Given the description of an element on the screen output the (x, y) to click on. 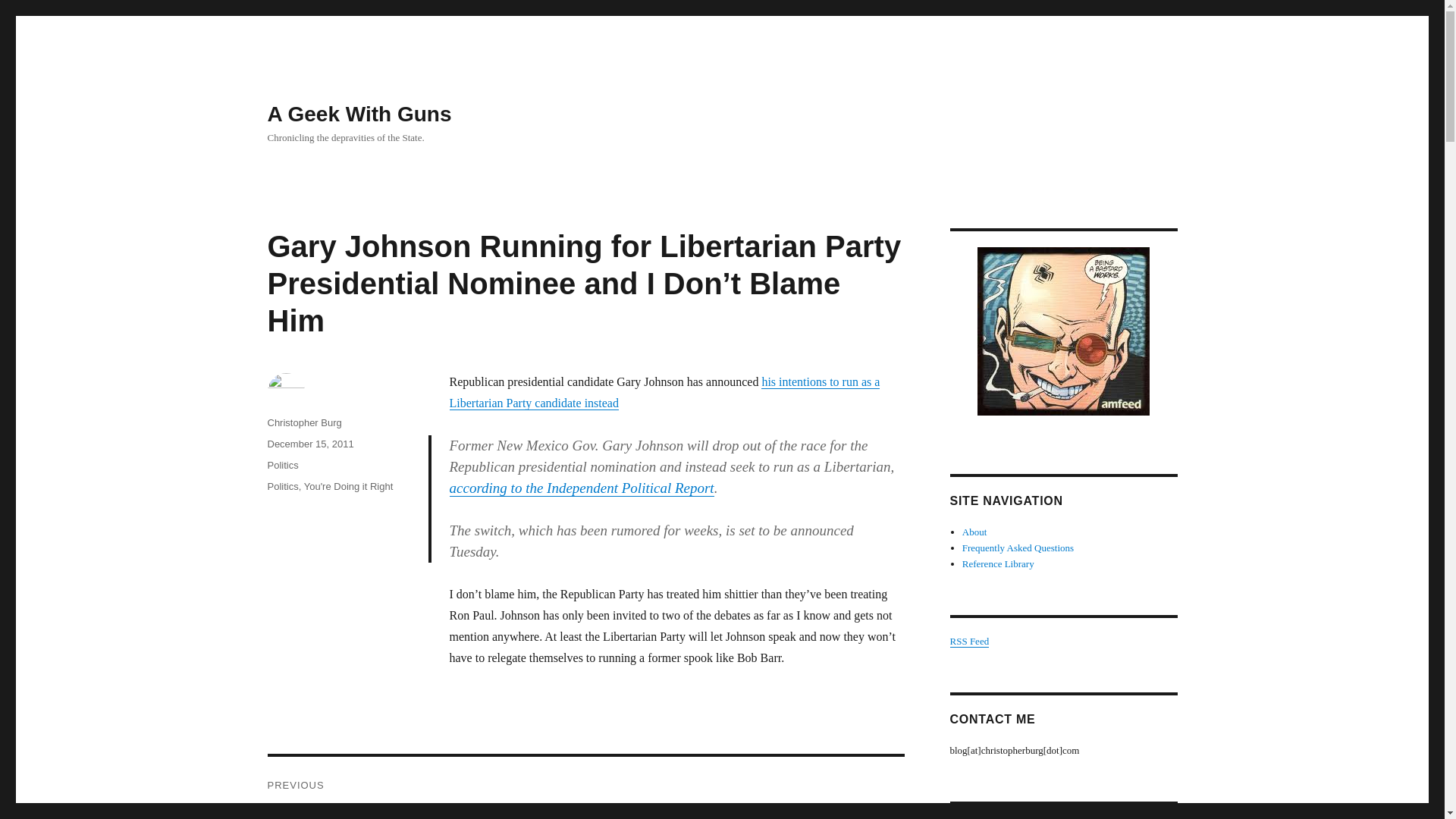
Politics (282, 464)
A Geek With Guns (358, 114)
About (974, 531)
You're Doing it Right (348, 486)
December 15, 2011 (309, 443)
according to the Independent Political Report (581, 487)
RSS Feed (968, 641)
Reference Library (997, 563)
Politics (282, 486)
Christopher Burg (303, 422)
Frequently Asked Questions (1018, 547)
